Given the description of an element on the screen output the (x, y) to click on. 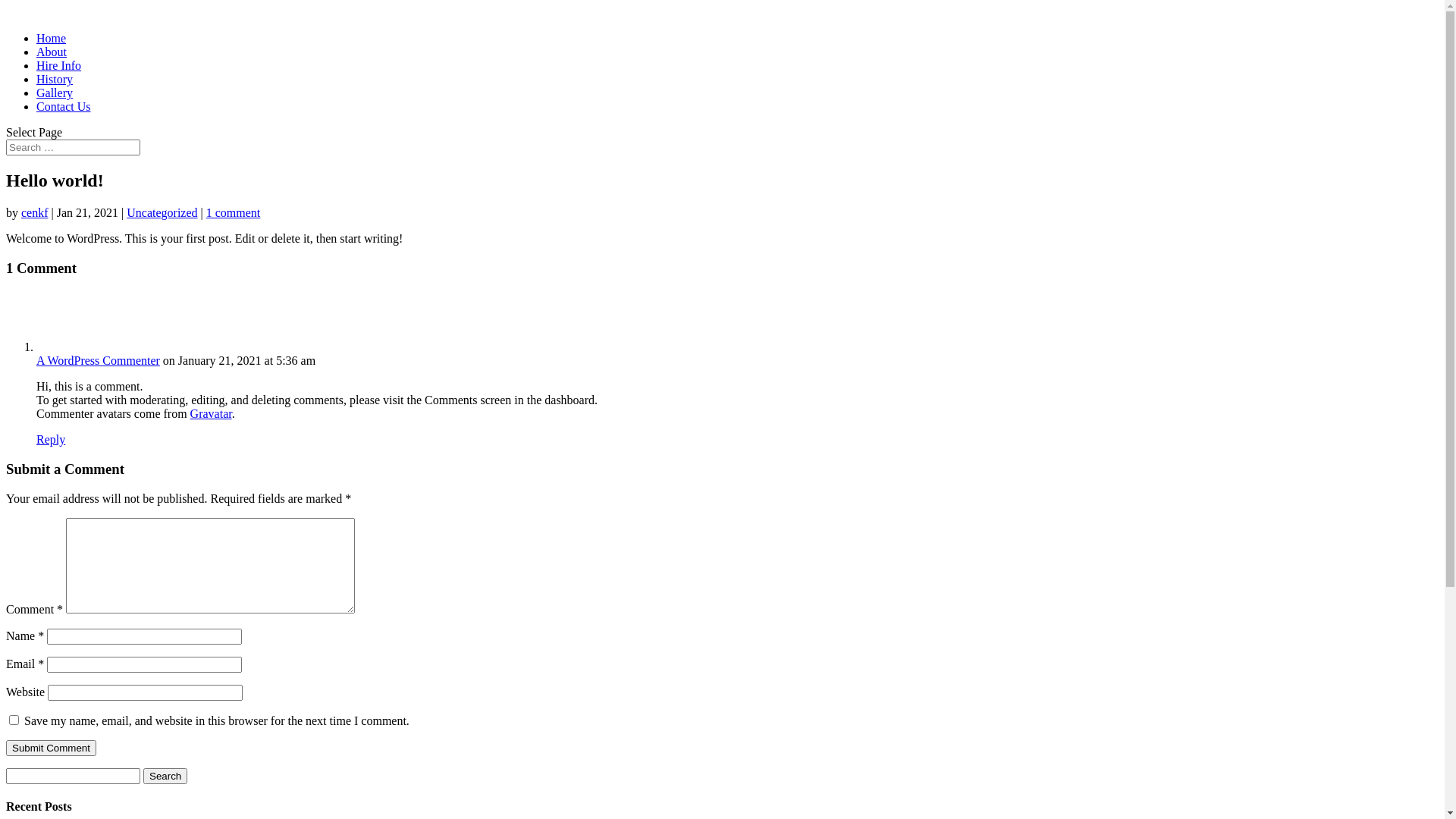
cenkf Element type: text (34, 212)
Search for: Element type: hover (73, 147)
Submit Comment Element type: text (51, 748)
Gravatar Element type: text (211, 413)
Contact Us Element type: text (63, 106)
Reply Element type: text (50, 439)
Home Element type: text (50, 37)
A WordPress Commenter Element type: text (98, 360)
Gallery Element type: text (54, 92)
History Element type: text (54, 78)
Hire Info Element type: text (58, 65)
About Element type: text (51, 51)
1 comment Element type: text (233, 212)
Uncategorized Element type: text (161, 212)
Search Element type: text (165, 776)
